Given the description of an element on the screen output the (x, y) to click on. 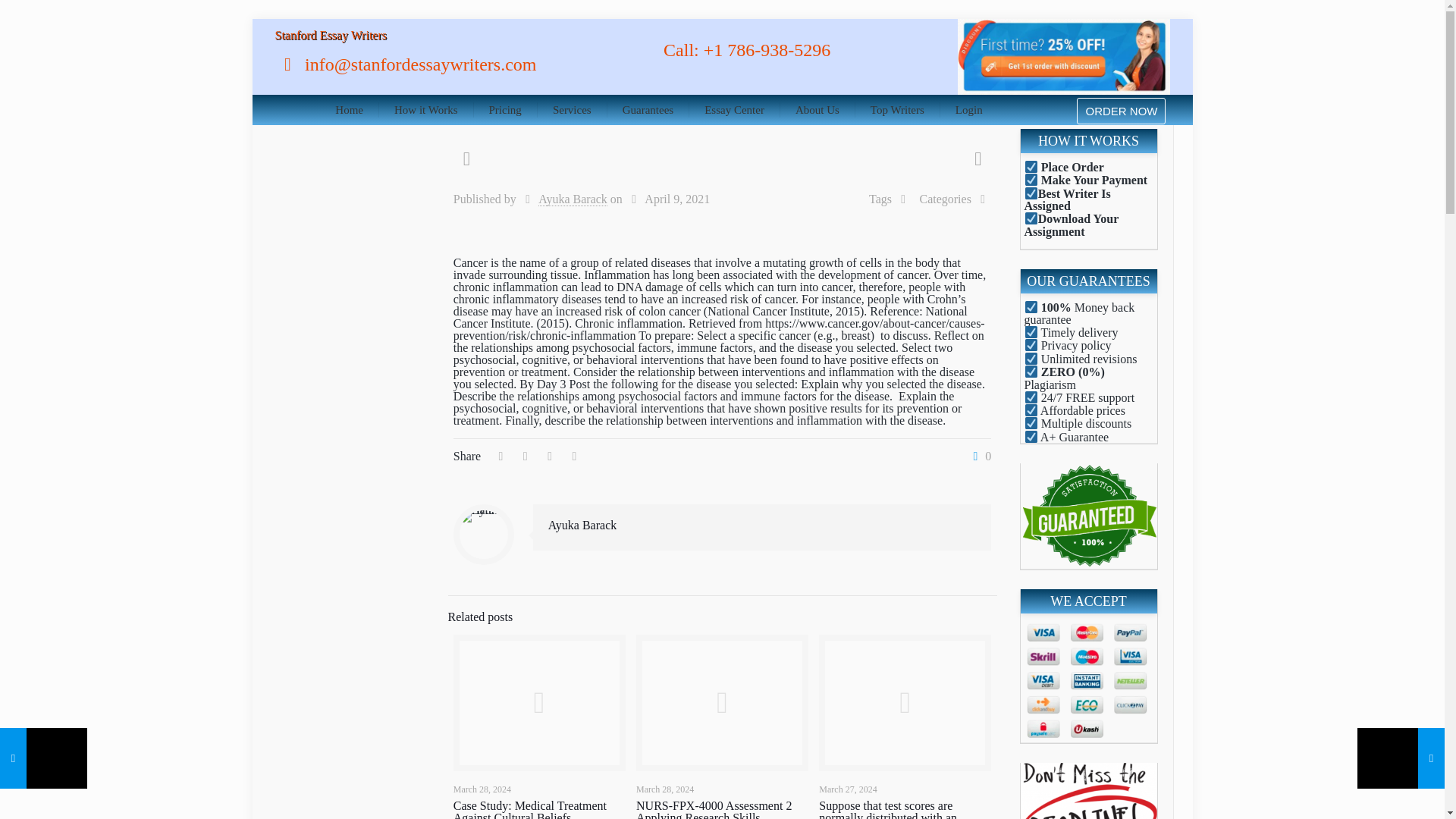
Login (968, 110)
Services (572, 110)
Stanford Essay Writers (330, 34)
Guarantees (647, 110)
Home (349, 110)
Essay Center (734, 110)
About Us (818, 110)
Pricing (505, 110)
ORDER NOW (1121, 110)
How it Works (426, 110)
Top Writers (898, 110)
